Given the description of an element on the screen output the (x, y) to click on. 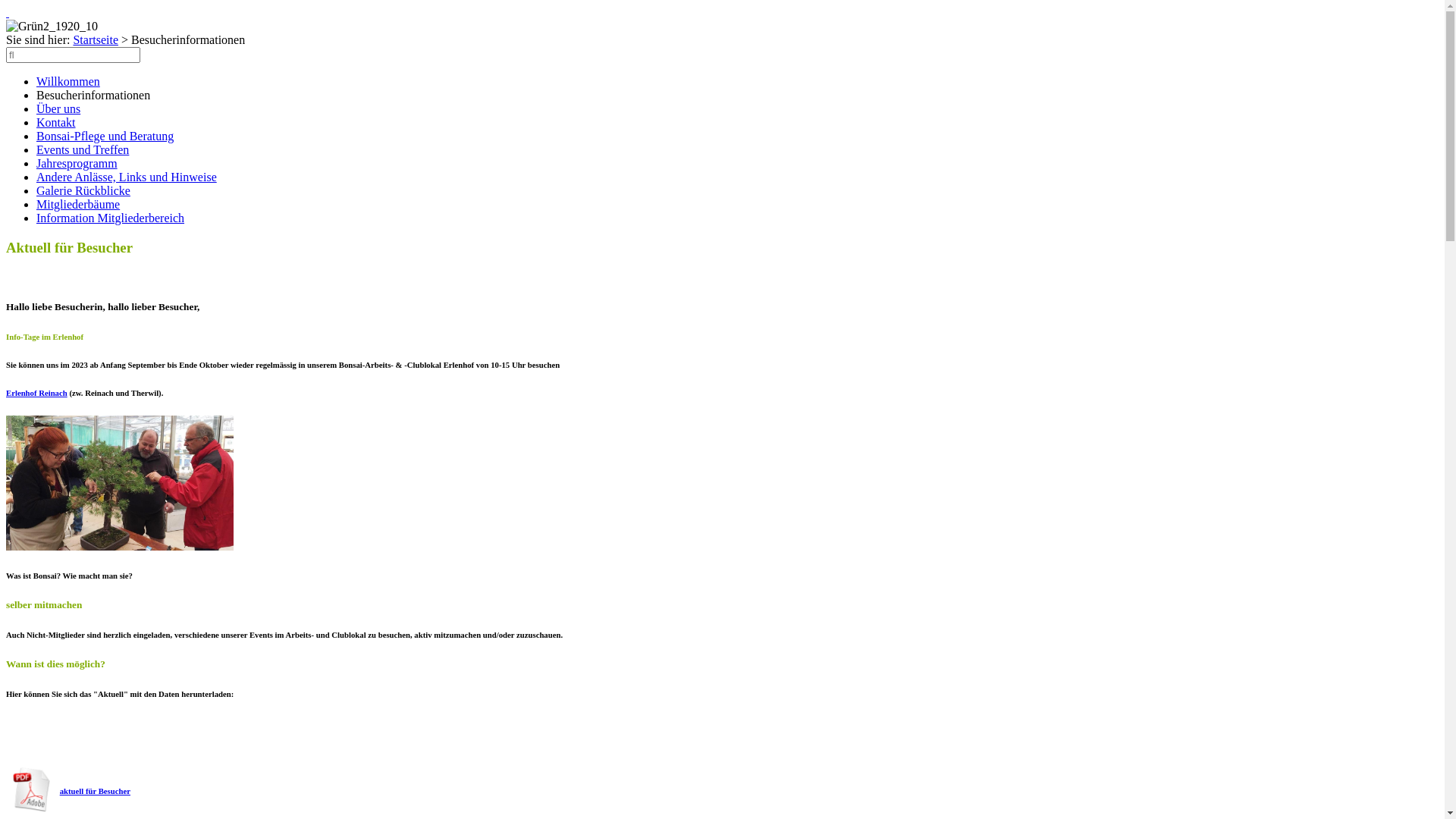
Willkommen Element type: text (68, 81)
Kontakt Element type: text (55, 122)
Bonsai-Pflege und Beratung Element type: text (104, 135)
Startseite Element type: text (95, 39)
  Element type: text (7, 12)
Information Mitgliederbereich Element type: text (110, 217)
Events und Treffen Element type: text (82, 149)
Erlenhof Reinach Element type: text (36, 392)
Suchen Element type: hover (73, 54)
Jahresprogramm Element type: text (76, 162)
